Given the description of an element on the screen output the (x, y) to click on. 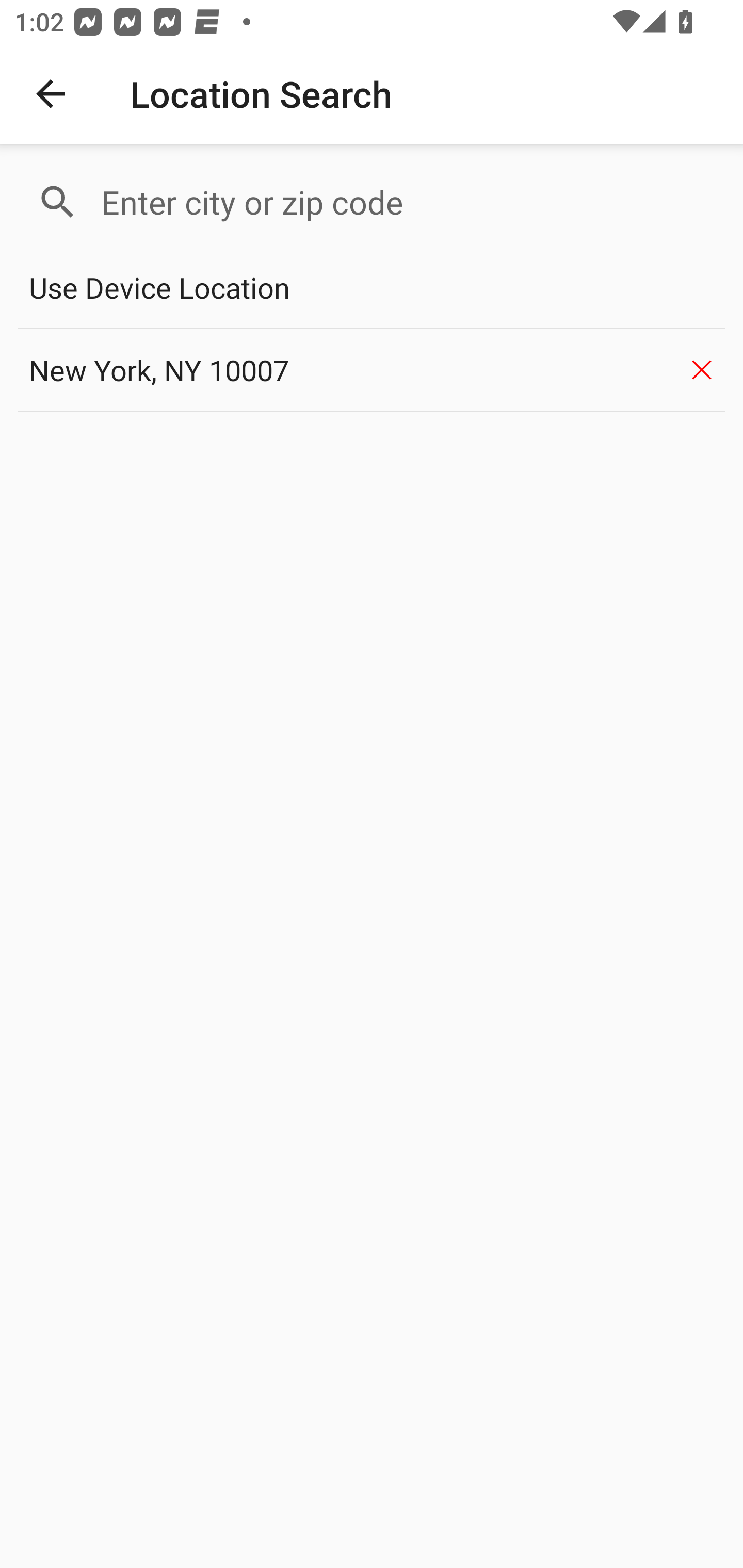
Navigate up (50, 93)
Enter city or zip code (407, 202)
Use Device Location (371, 287)
